Given the description of an element on the screen output the (x, y) to click on. 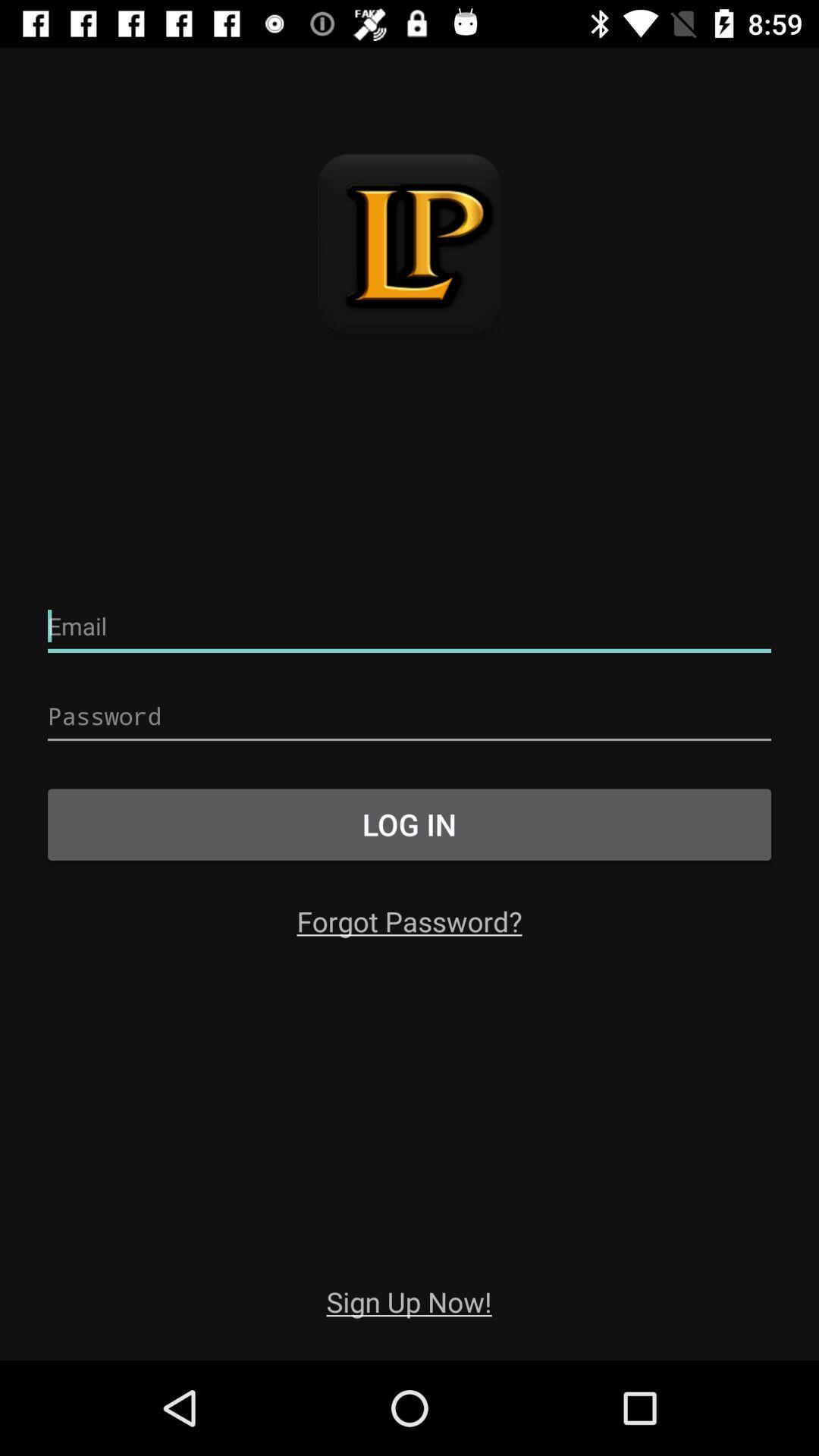
turn off log in icon (409, 824)
